Given the description of an element on the screen output the (x, y) to click on. 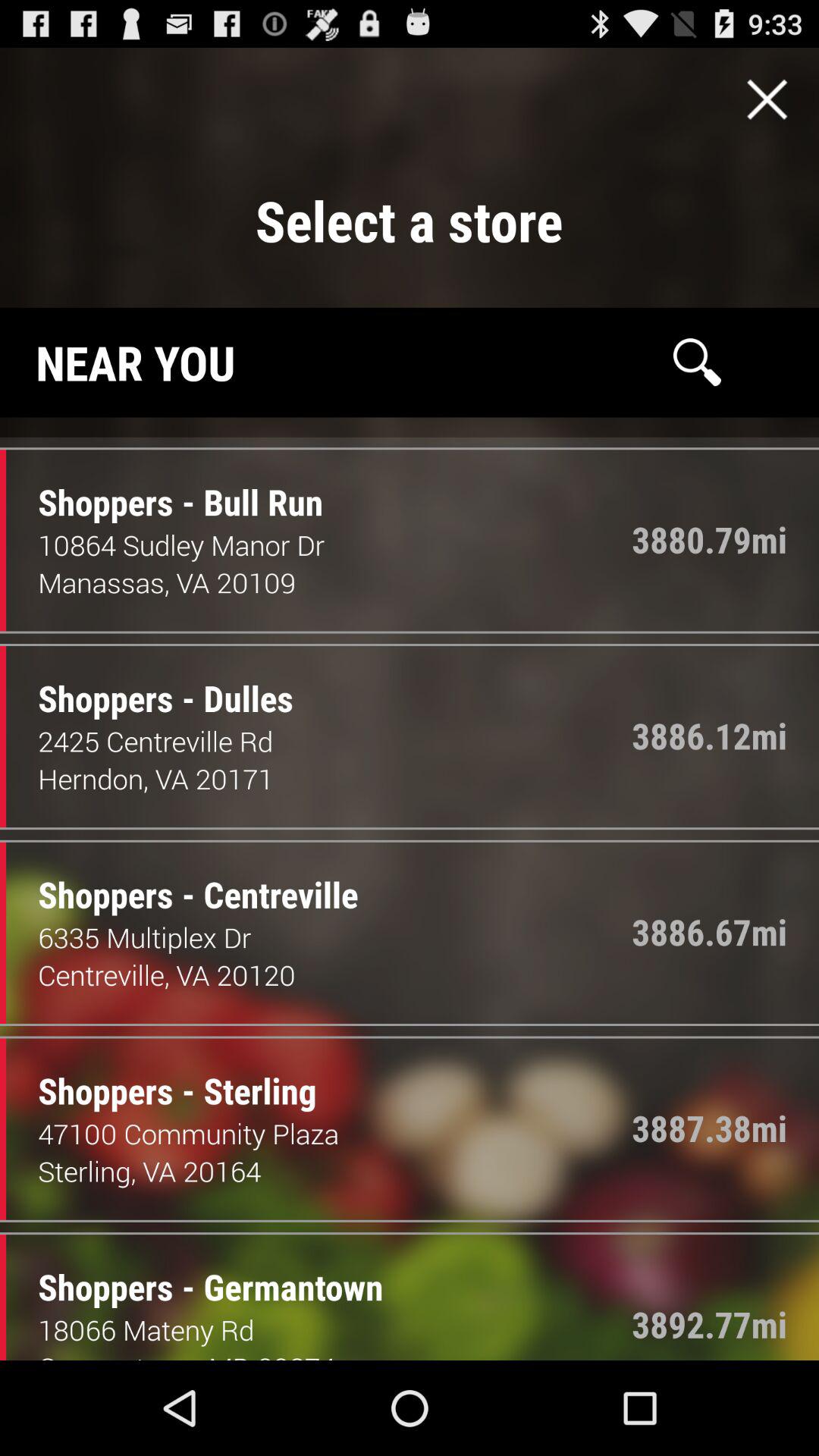
scroll to manassas, va 20109 icon (237, 582)
